Given the description of an element on the screen output the (x, y) to click on. 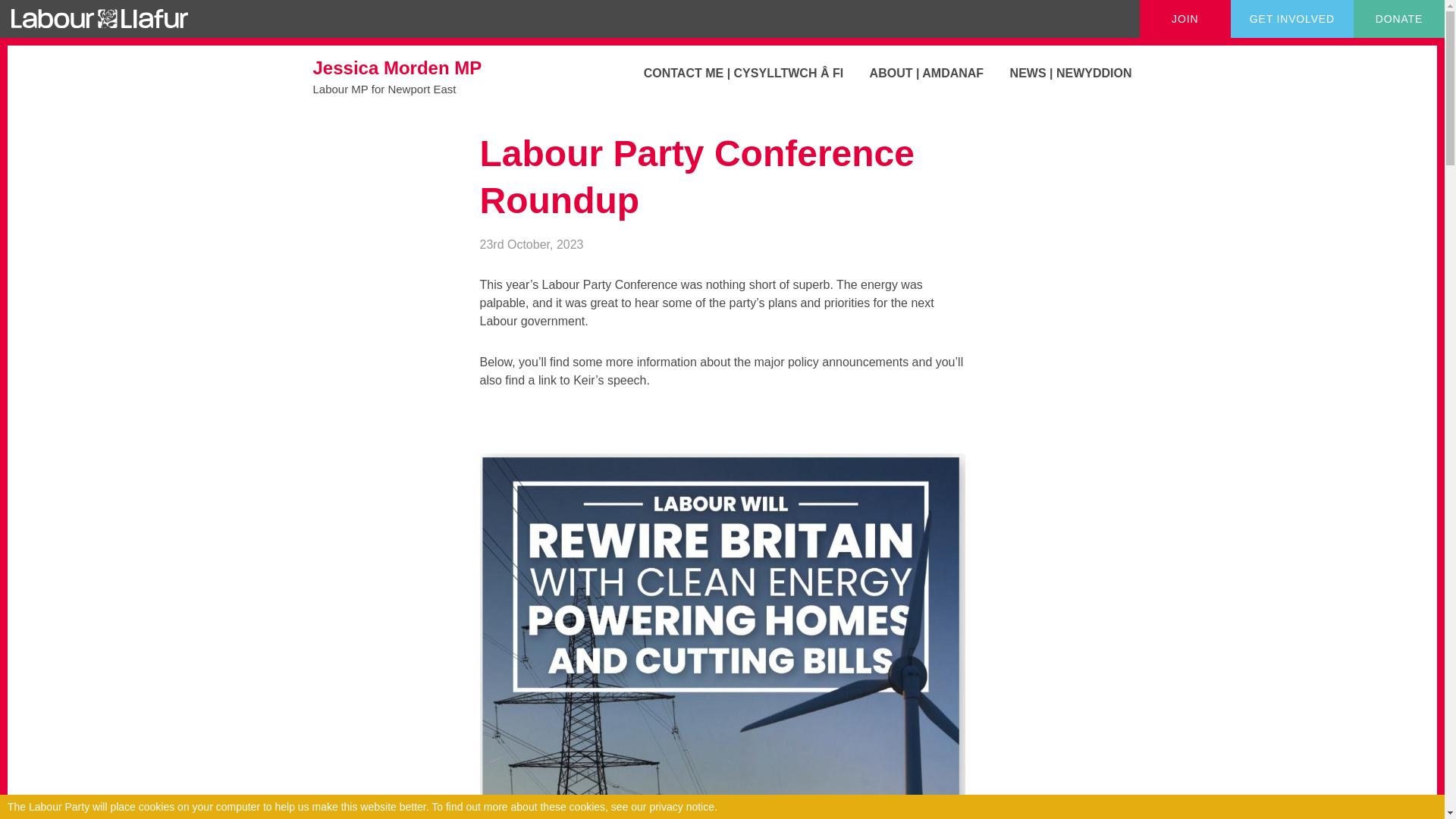
GET INVOLVED (1292, 18)
JOIN (1185, 18)
